Given the description of an element on the screen output the (x, y) to click on. 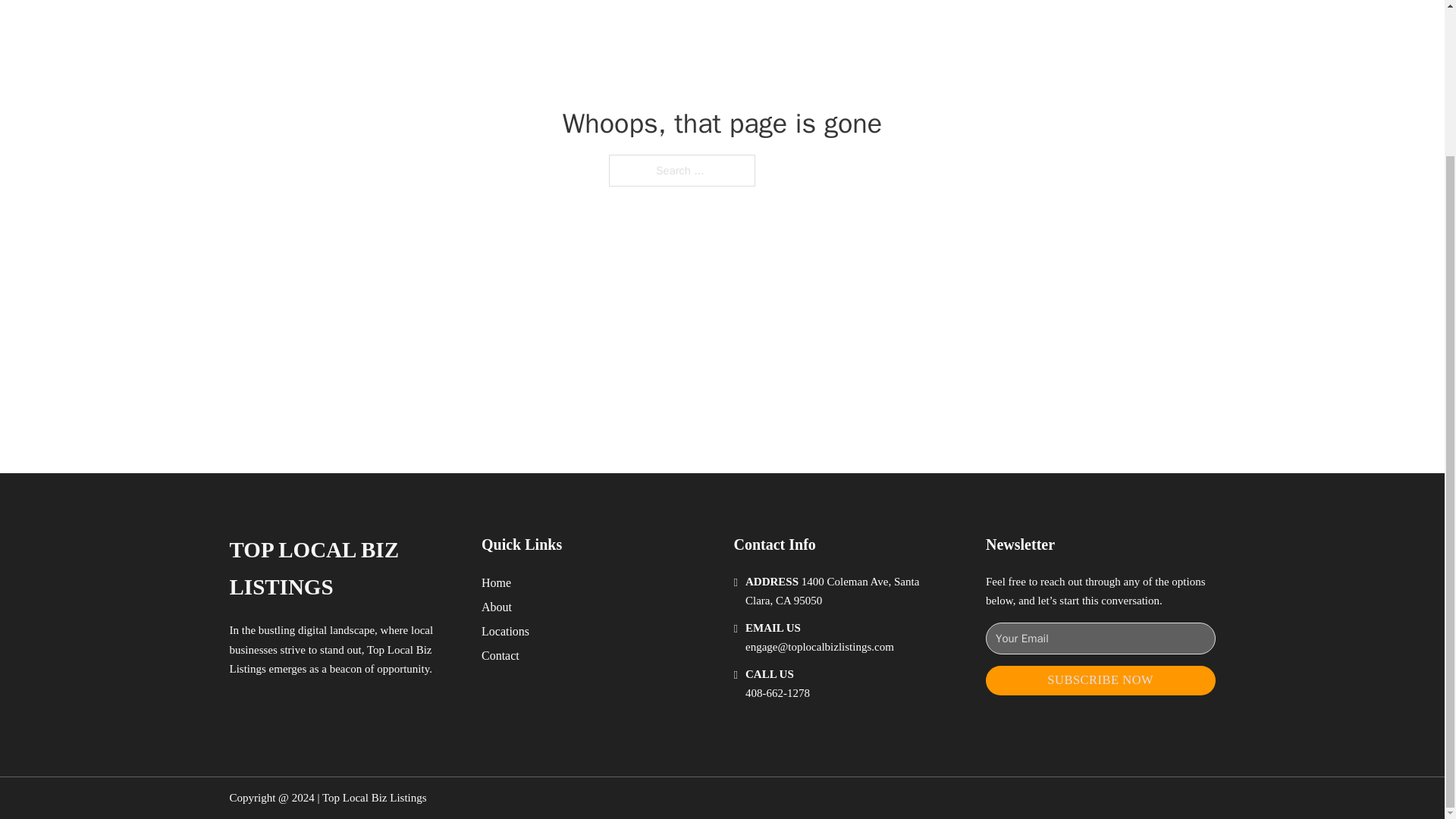
About (496, 607)
Contact (500, 655)
SUBSCRIBE NOW (1100, 680)
408-662-1278 (777, 693)
Home (496, 582)
TOP LOCAL BIZ LISTINGS (343, 568)
Locations (505, 630)
